Given the description of an element on the screen output the (x, y) to click on. 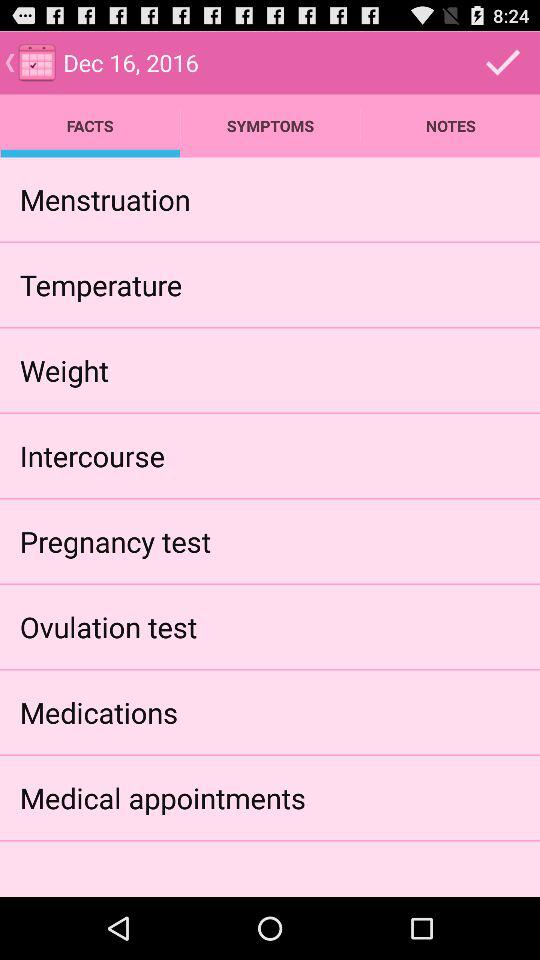
scroll to ovulation test item (108, 626)
